Given the description of an element on the screen output the (x, y) to click on. 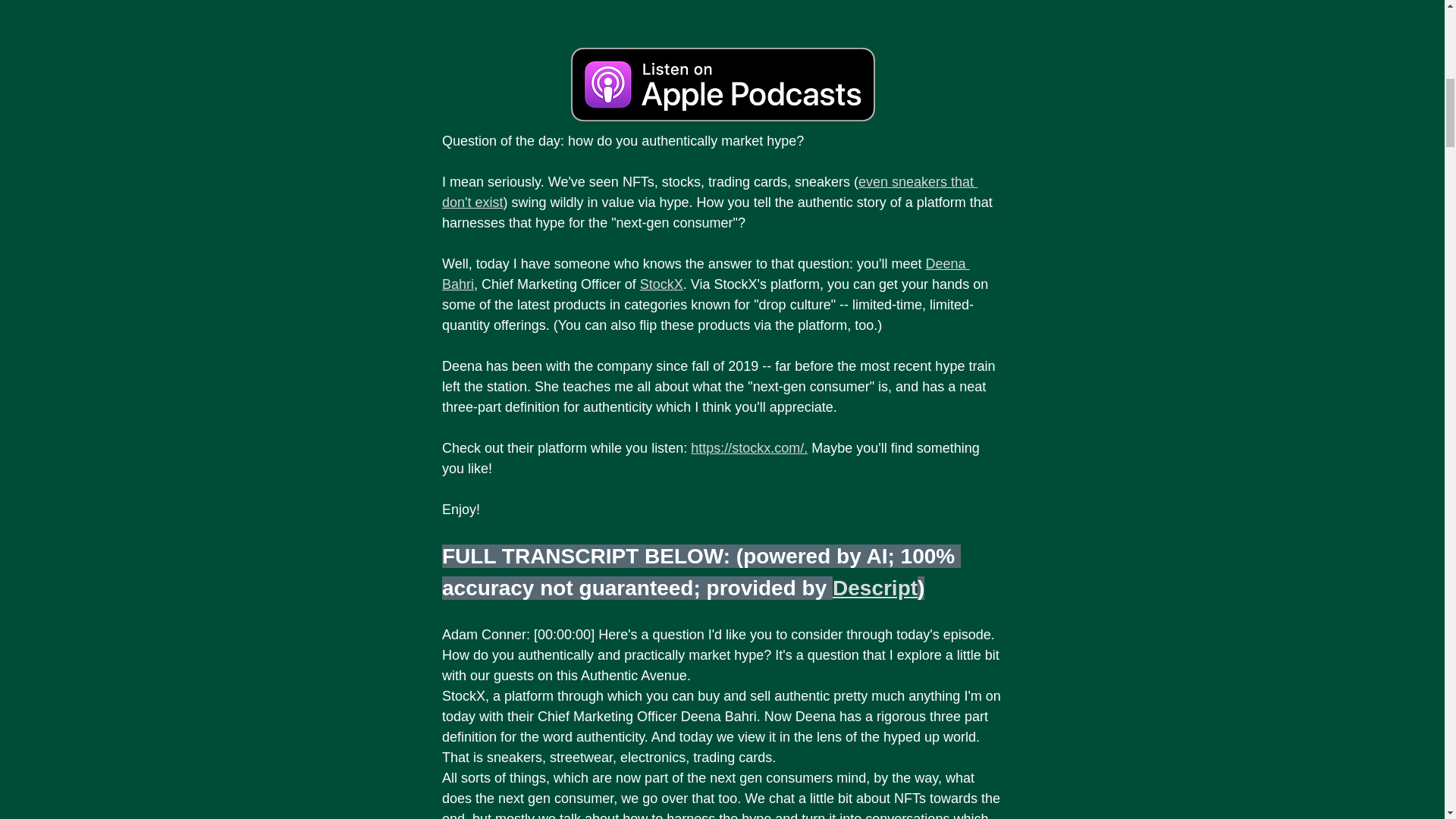
StockX (660, 283)
even sneakers that don't exist (708, 191)
Deena Bahri (705, 273)
Descript (874, 587)
